Given the description of an element on the screen output the (x, y) to click on. 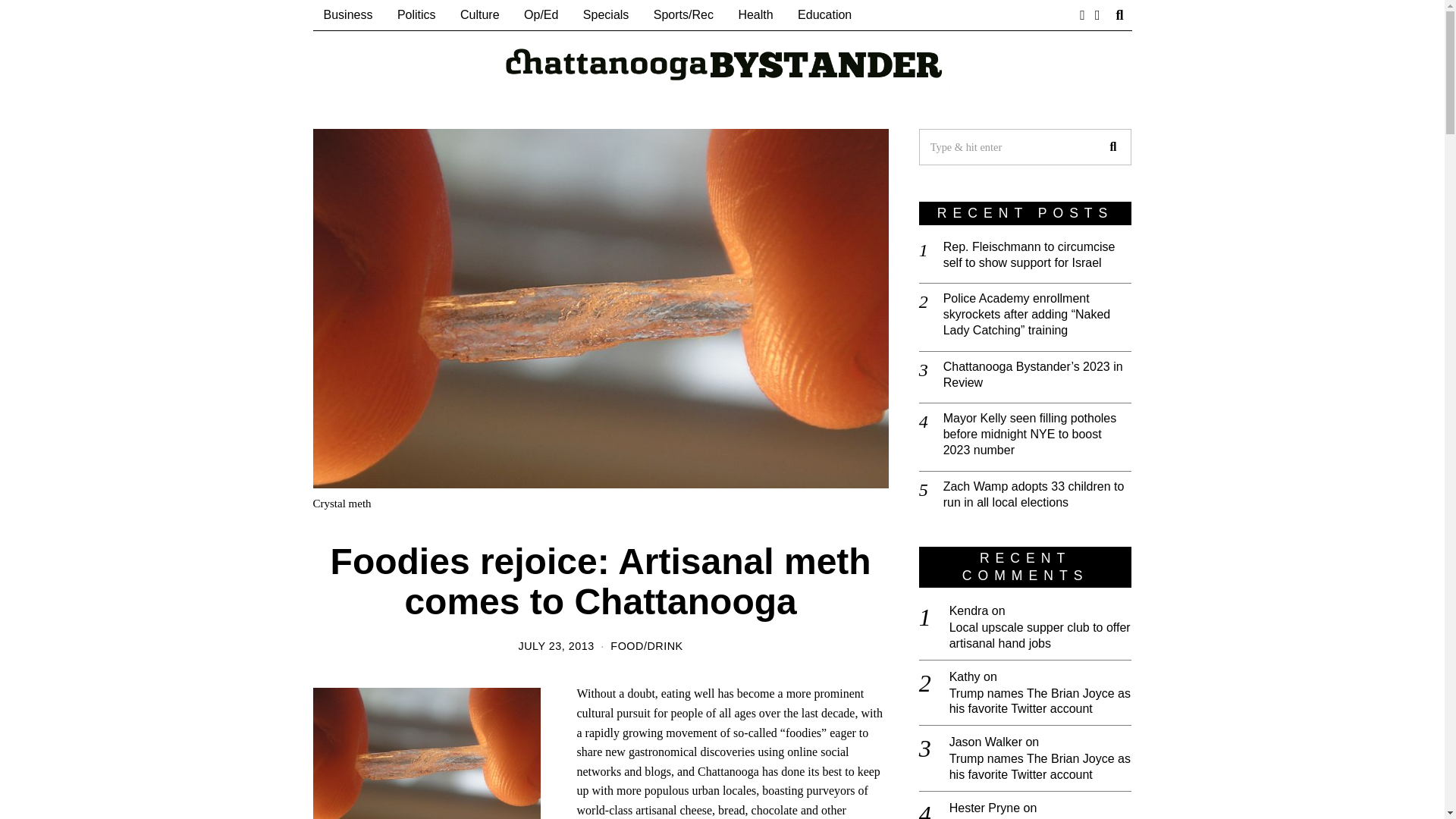
Trump names The Brian Joyce as his favorite Twitter account (1040, 701)
Education (824, 15)
Culture (480, 15)
Health (754, 15)
Trump names The Brian Joyce as his favorite Twitter account (1040, 766)
Politics (416, 15)
Zach Wamp adopts 33 children to run in all local elections (1037, 495)
Business (347, 15)
